Given the description of an element on the screen output the (x, y) to click on. 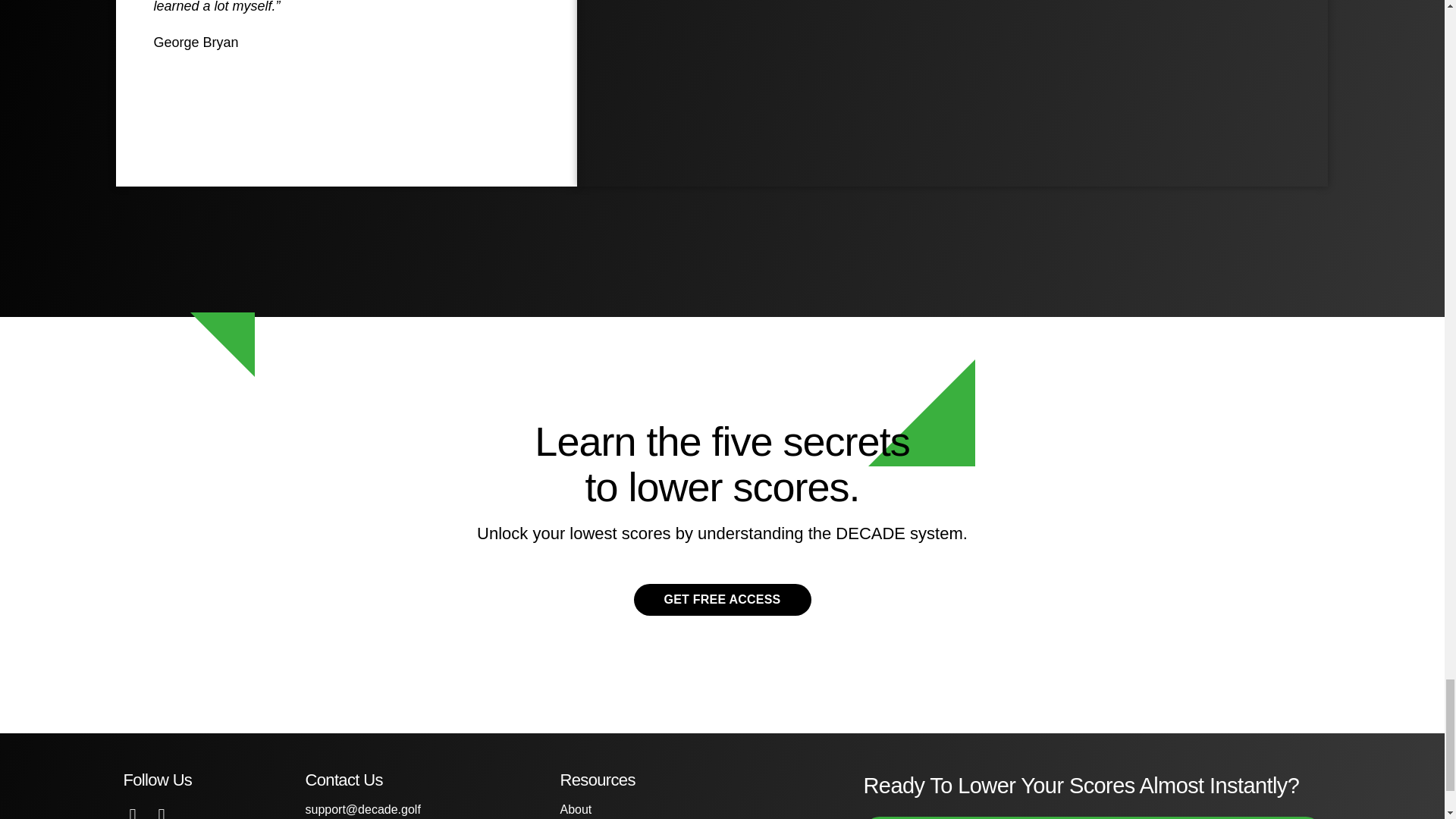
GET FREE ACCESS (721, 599)
About (575, 809)
